Given the description of an element on the screen output the (x, y) to click on. 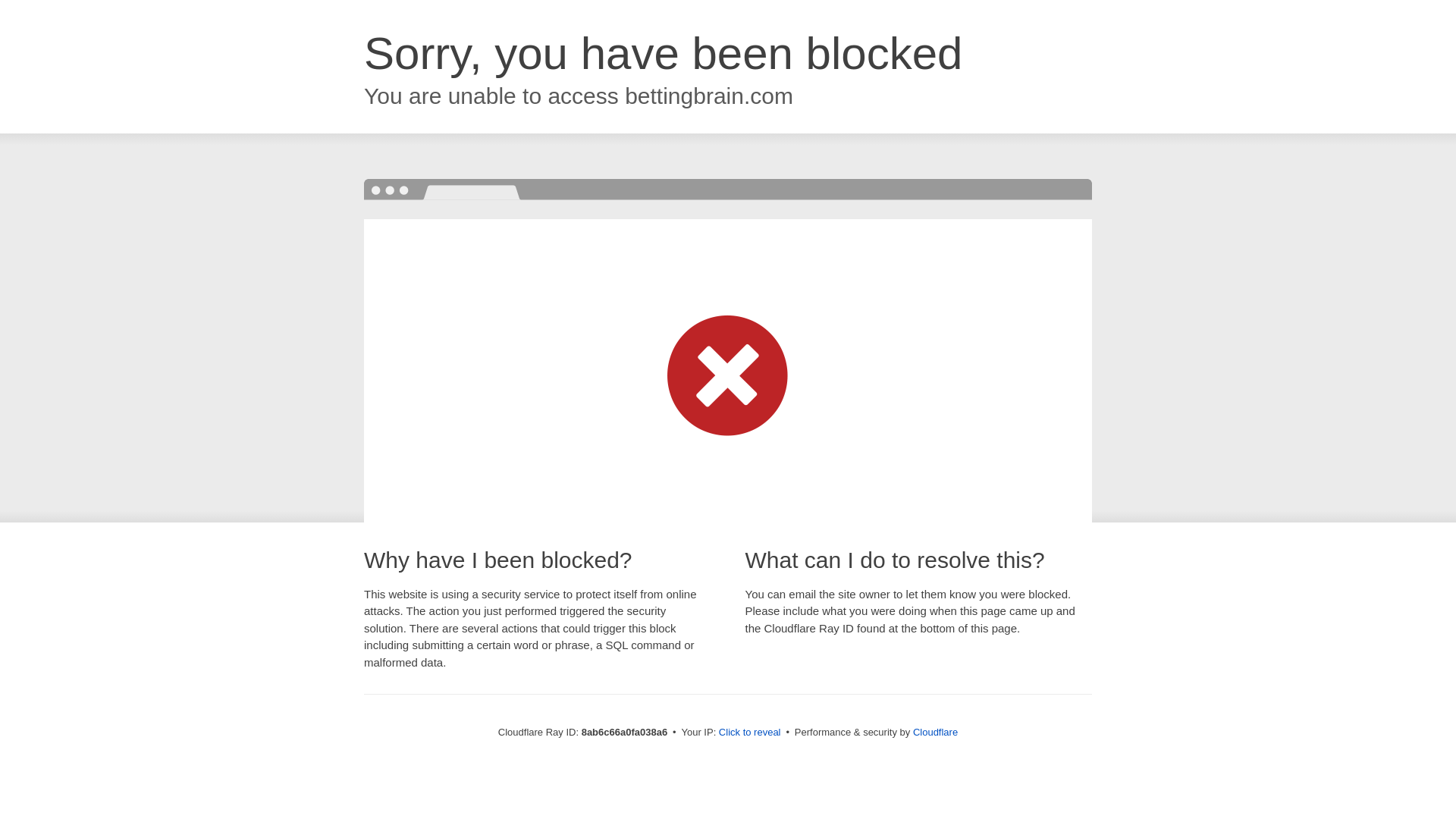
Click to reveal (749, 732)
Cloudflare (935, 731)
